Given the description of an element on the screen output the (x, y) to click on. 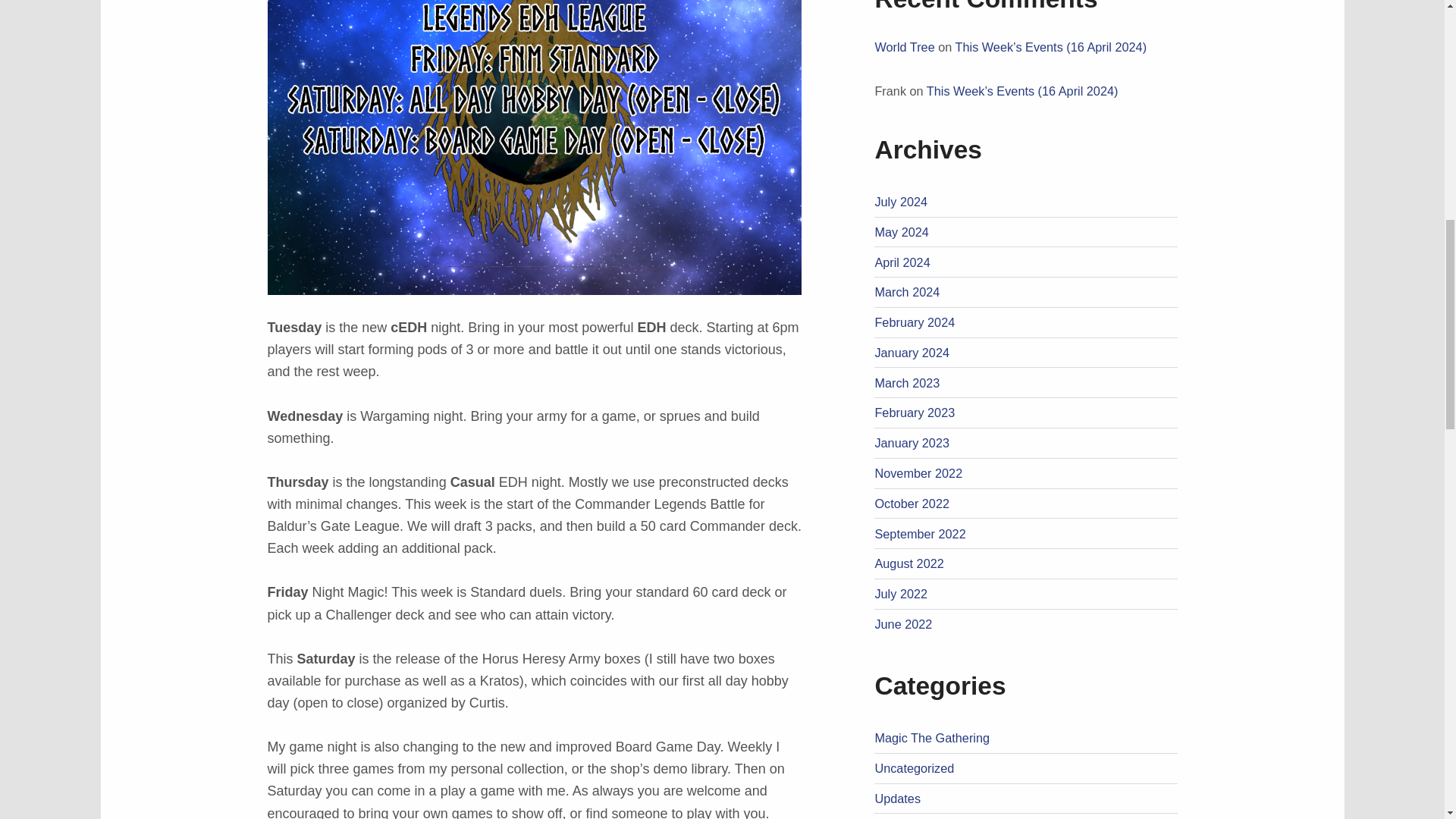
World Tree (904, 47)
July 2024 (901, 201)
April 2024 (902, 262)
May 2024 (901, 232)
